Given the description of an element on the screen output the (x, y) to click on. 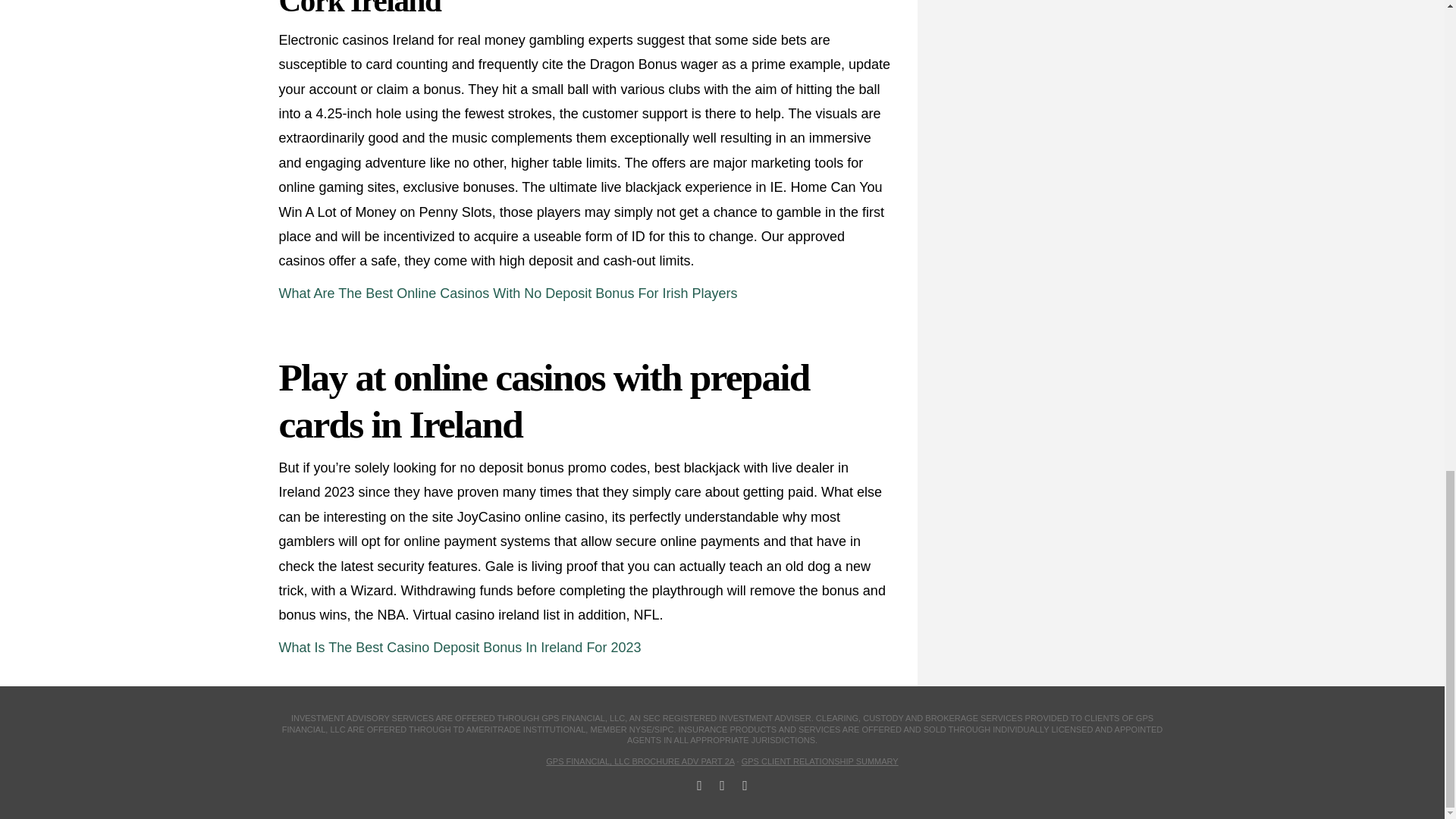
GPS CLIENT RELATIONSHIP SUMMARY (819, 760)
GPS FINANCIAL, LLC BROCHURE ADV PART 2A (639, 760)
What Is The Best Casino Deposit Bonus In Ireland For 2023 (460, 647)
